Given the description of an element on the screen output the (x, y) to click on. 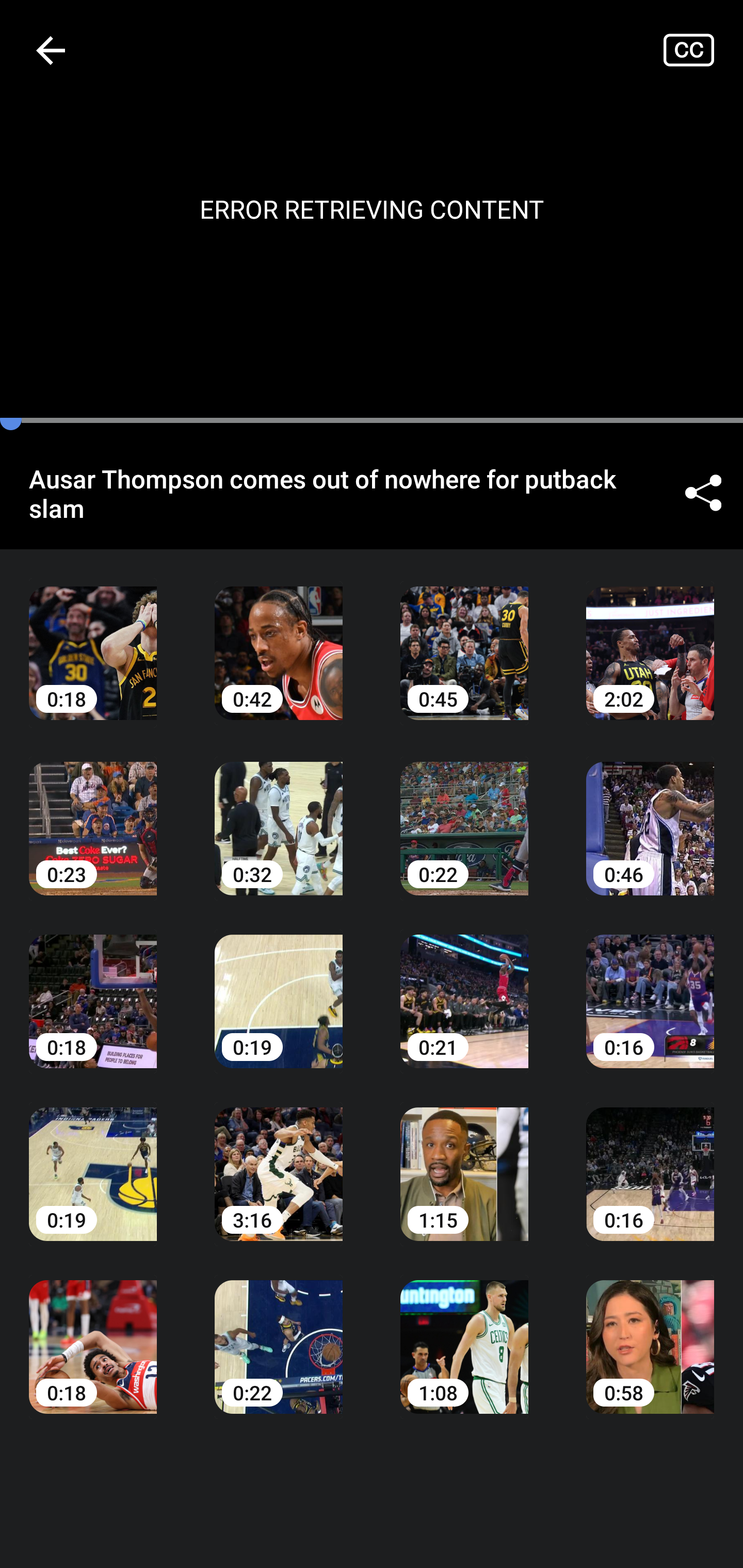
Navigate up (50, 50)
Closed captions  (703, 49)
Share © (703, 493)
0:18 (92, 637)
0:42 (278, 637)
0:45 (464, 637)
2:02 (650, 637)
0:23 (92, 813)
0:32 (278, 813)
0:22 (464, 813)
0:46 (650, 813)
0:18 (92, 987)
0:19 (278, 987)
0:21 (464, 987)
0:16 (650, 987)
0:19 (92, 1160)
3:16 (278, 1160)
1:15 (464, 1160)
0:16 (650, 1160)
0:18 (92, 1332)
0:22 (278, 1332)
1:08 (464, 1332)
0:58 (650, 1332)
